Given the description of an element on the screen output the (x, y) to click on. 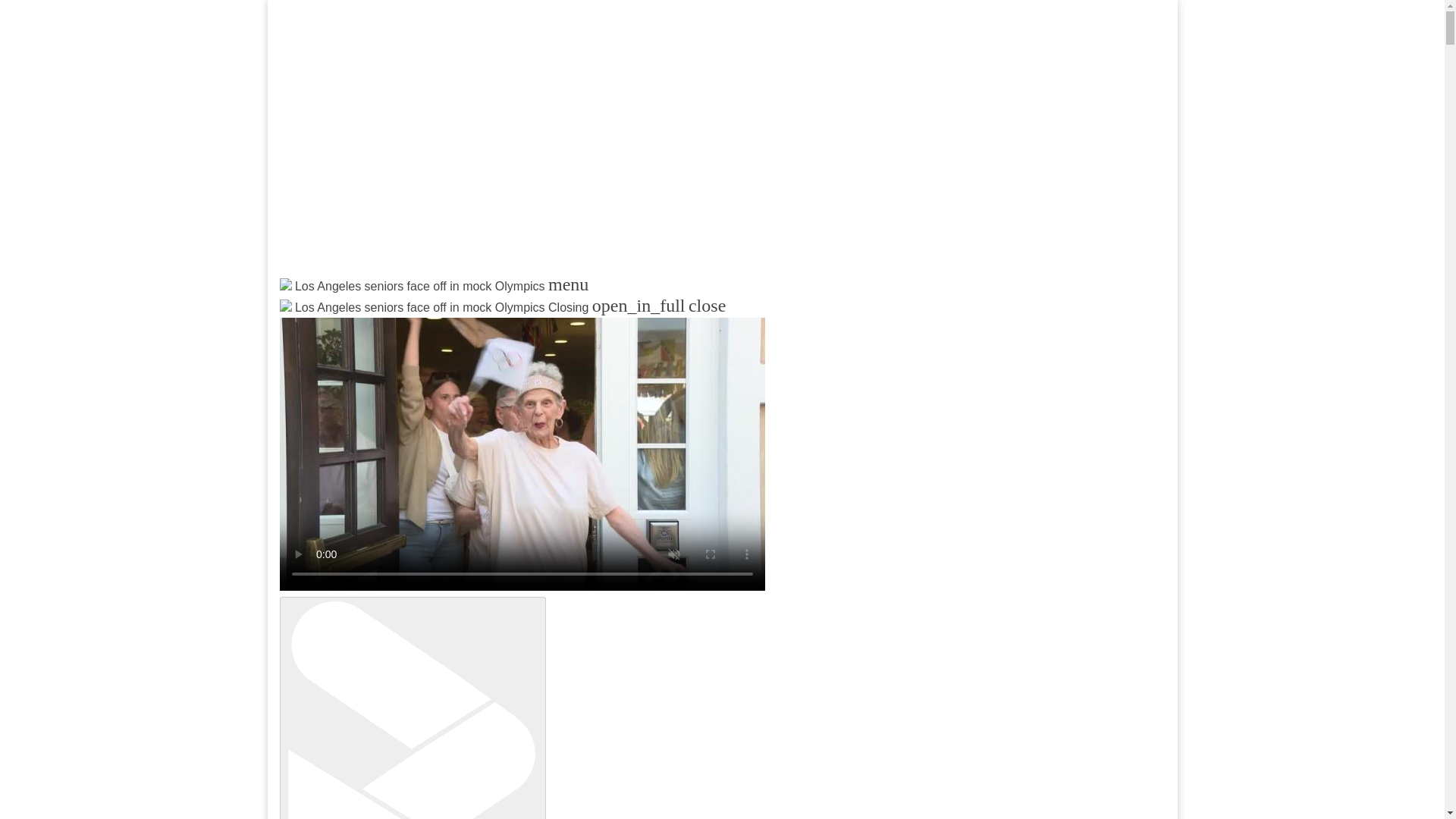
Skope Entertainment Inc (462, 323)
Skope Entertainment Inc (462, 323)
YouTube video player (478, 149)
